Given the description of an element on the screen output the (x, y) to click on. 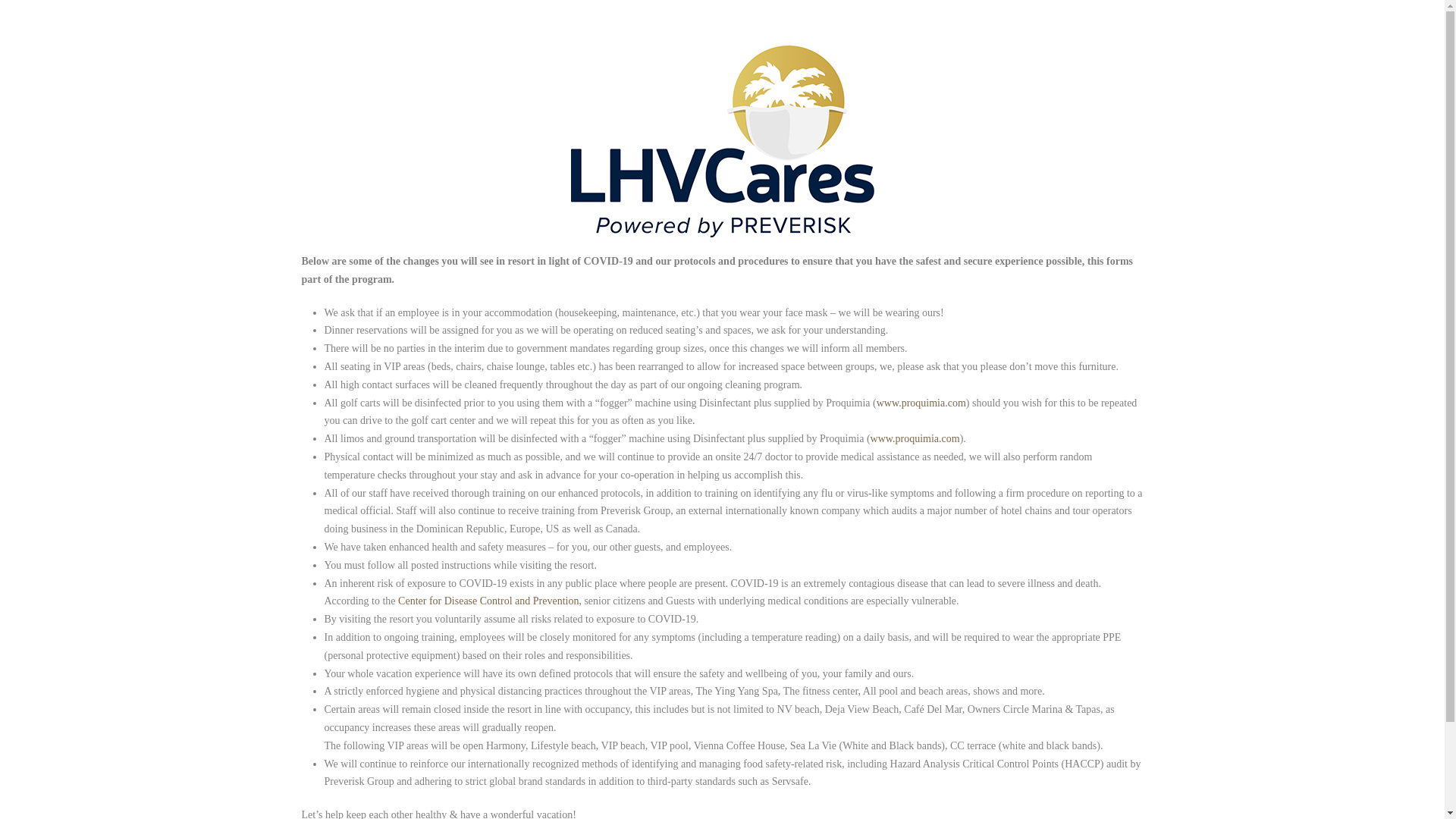
Center for Disease Control and Prevention (487, 600)
www.proquimia.com (914, 438)
www.proquimia.com (921, 402)
